Given the description of an element on the screen output the (x, y) to click on. 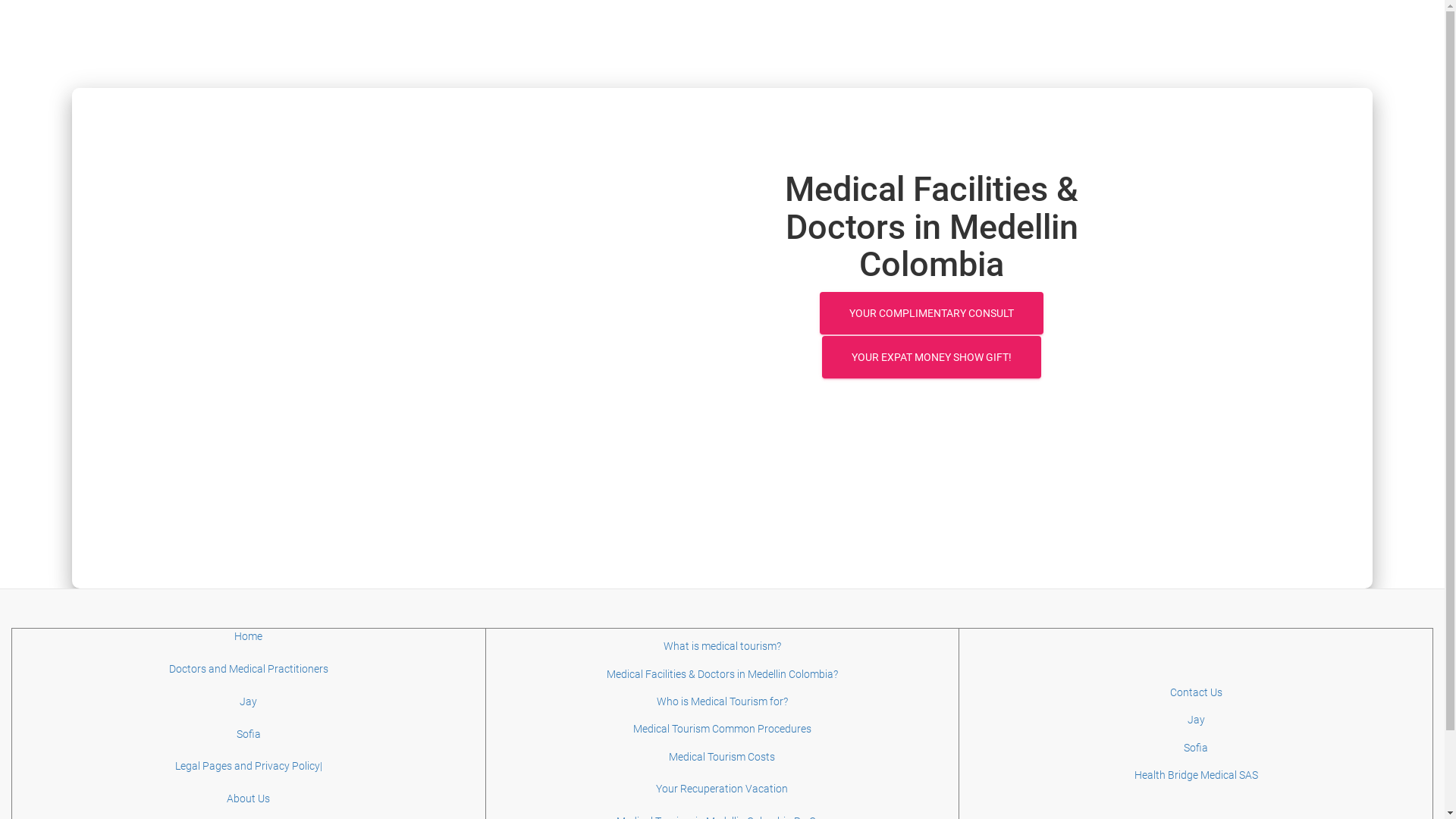
Medical Facilities & Doctors in Medellin Colombia? Element type: text (721, 673)
About Us Element type: text (247, 798)
Jay Element type: text (248, 701)
Jay Element type: text (1195, 719)
Home Element type: text (248, 636)
Sofia Element type: text (1195, 747)
Doctors and Medical Practitioners Element type: text (248, 668)
Legal Pages and Privacy Policy| Element type: text (248, 765)
YOUR EXPAT MONEY SHOW GIFT! Element type: text (931, 356)
Sofia Element type: text (248, 734)
Contact Us Element type: text (1196, 692)
What is medical tourism? Element type: text (722, 646)
Who is Medical Tourism for? Element type: text (721, 701)
Medical Tourism Common Procedures Element type: text (722, 728)
Medical Tourism Costs Element type: text (721, 756)
Your Recuperation Vacation Element type: text (721, 788)
Health Bridge Medical SAS Element type: text (1196, 774)
YOUR COMPLIMENTARY CONSULT Element type: text (931, 312)
